Given the description of an element on the screen output the (x, y) to click on. 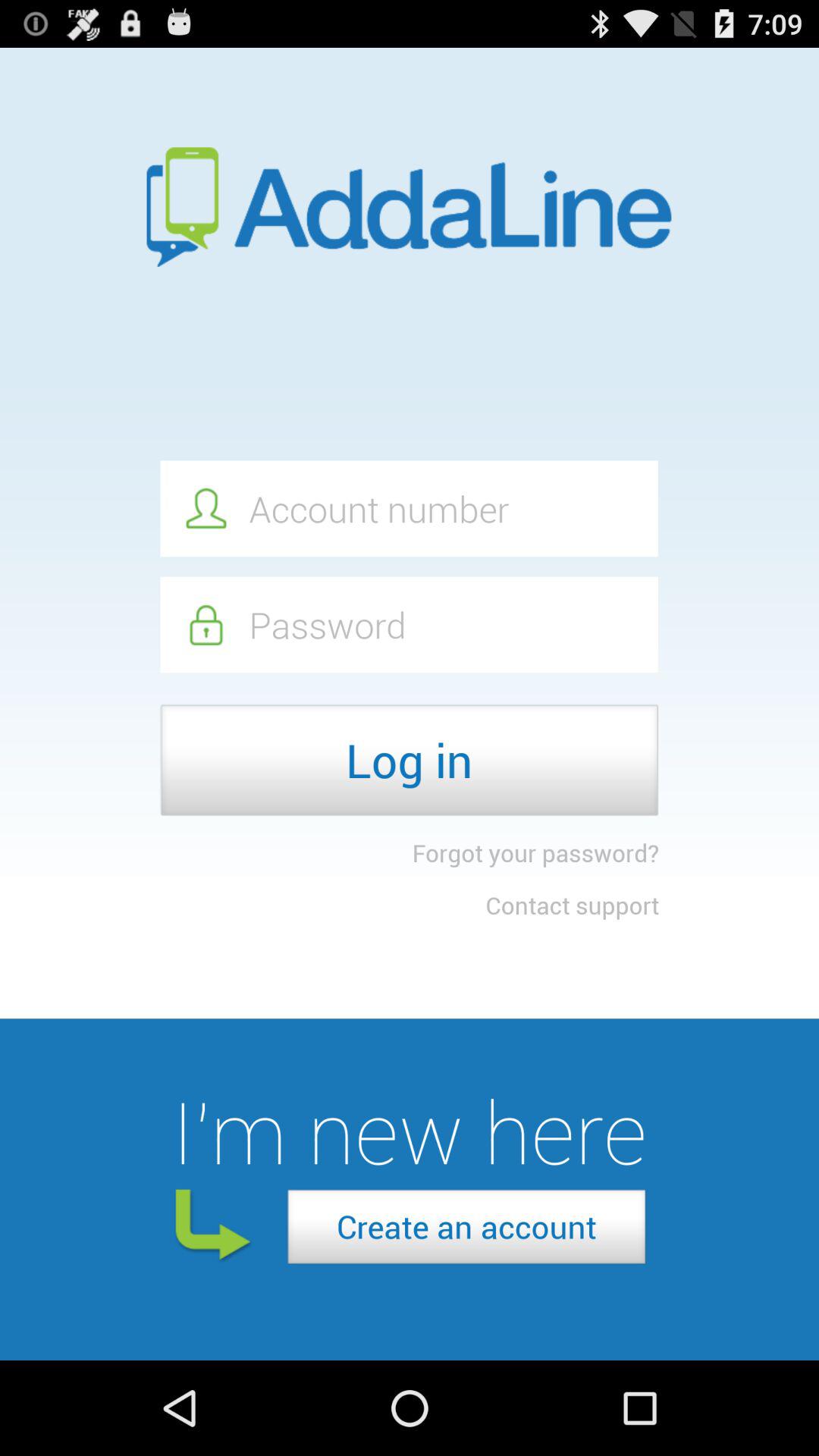
enter account number (409, 508)
